Given the description of an element on the screen output the (x, y) to click on. 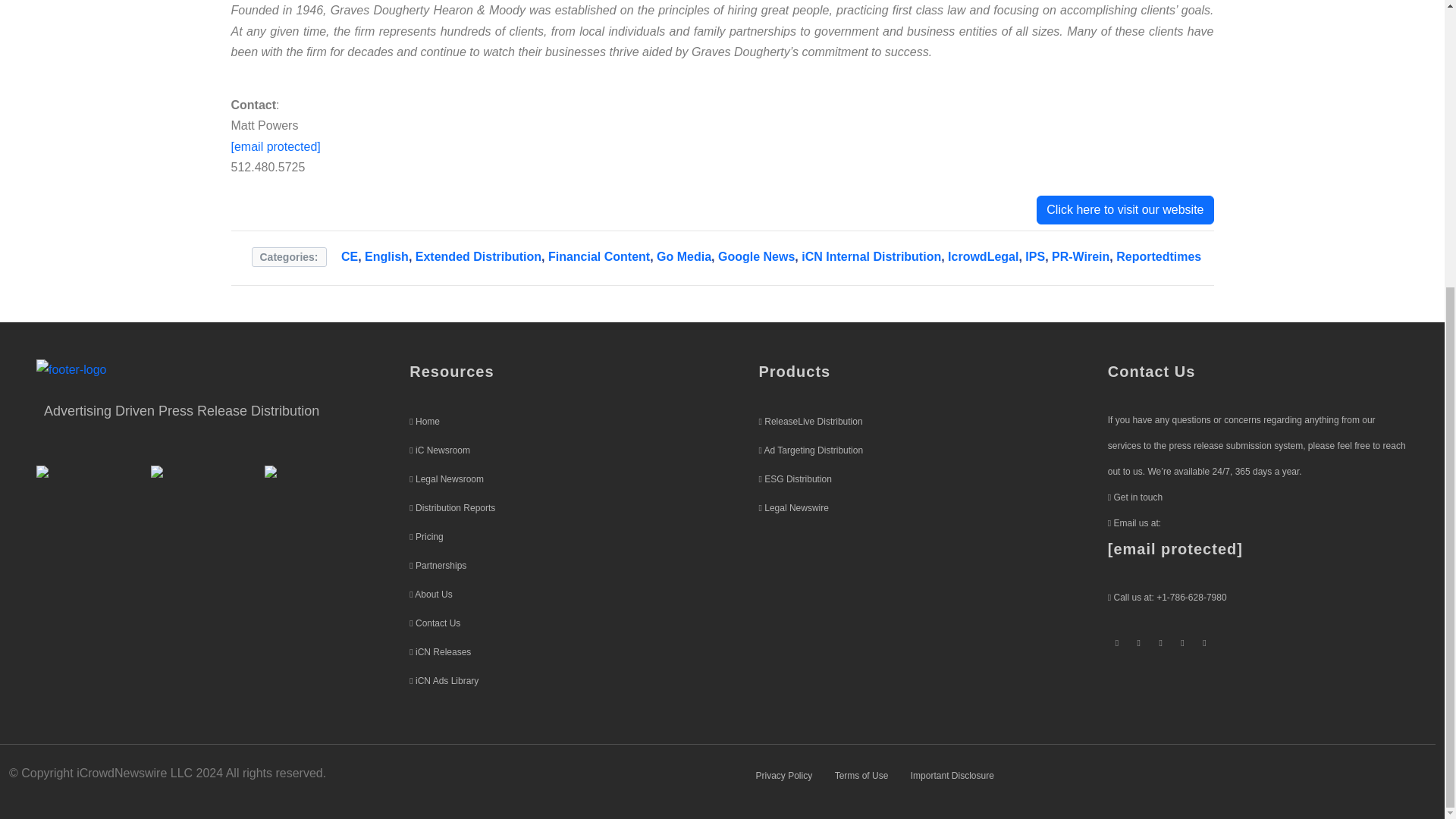
Financial Content (598, 256)
CE (349, 256)
English (387, 256)
Reportedtimes (1158, 256)
Google News (755, 256)
IcrowdLegal (982, 256)
Click here to visit our website (1124, 209)
Go Media (683, 256)
PR-Wirein (1080, 256)
Home (426, 421)
